Given the description of an element on the screen output the (x, y) to click on. 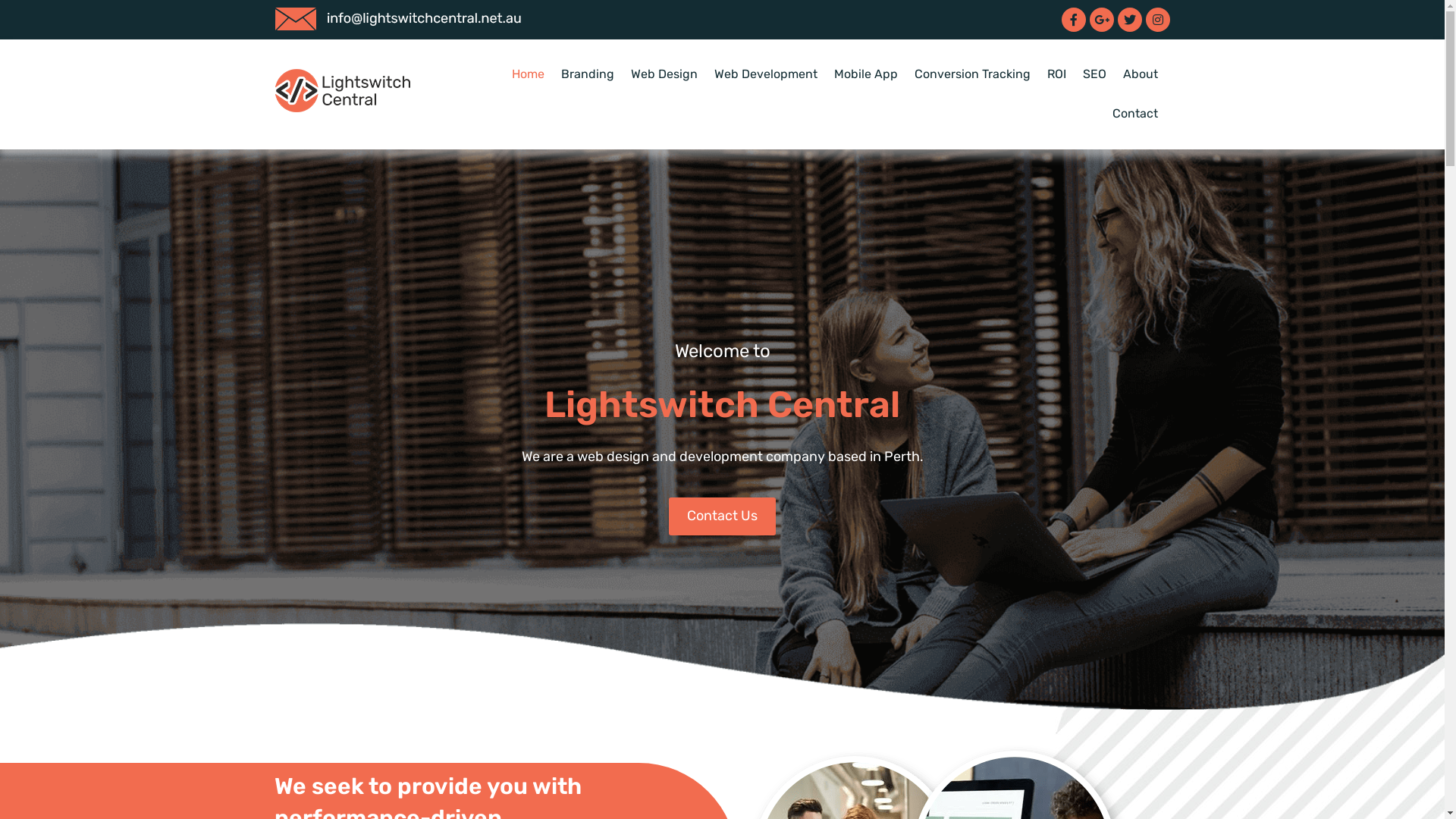
Contact Us Element type: text (721, 515)
Contact Element type: text (1135, 113)
Web Design Element type: text (664, 74)
About Element type: text (1140, 74)
Mobile App Element type: text (865, 74)
ROI Element type: text (1056, 74)
Conversion Tracking Element type: text (972, 74)
SEO Element type: text (1094, 74)
Branding Element type: text (587, 74)
Web Development Element type: text (765, 74)
Home Element type: text (527, 74)
